Given the description of an element on the screen output the (x, y) to click on. 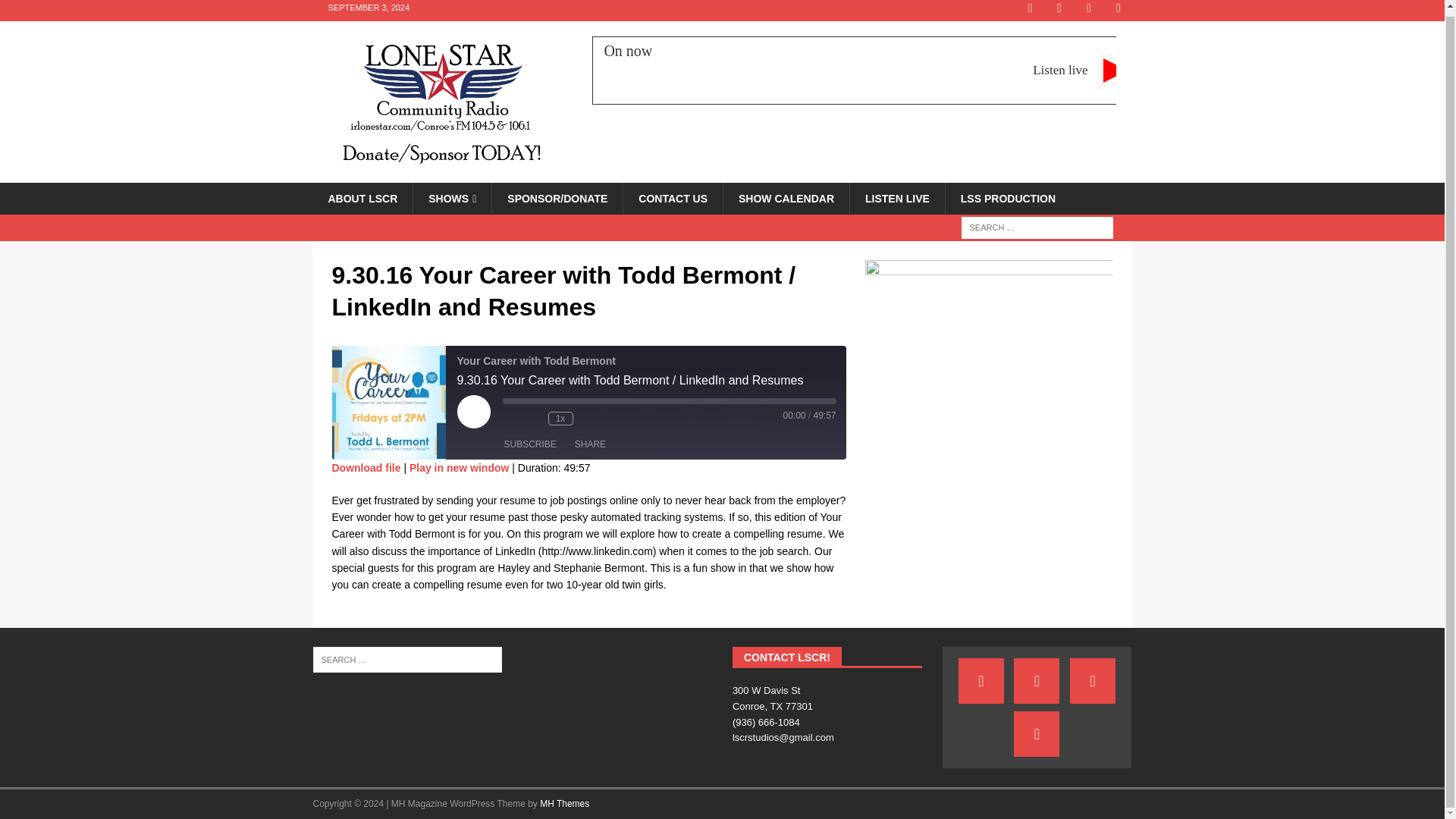
ABOUT LSCR (362, 198)
CONTACT US (672, 198)
LSS PRODUCTION (1007, 198)
Playback Speed (867, 70)
Download file (559, 418)
Fast Forward 30 seconds (366, 467)
Seek (587, 418)
LISTEN LIVE (668, 401)
Play (896, 198)
